Given the description of an element on the screen output the (x, y) to click on. 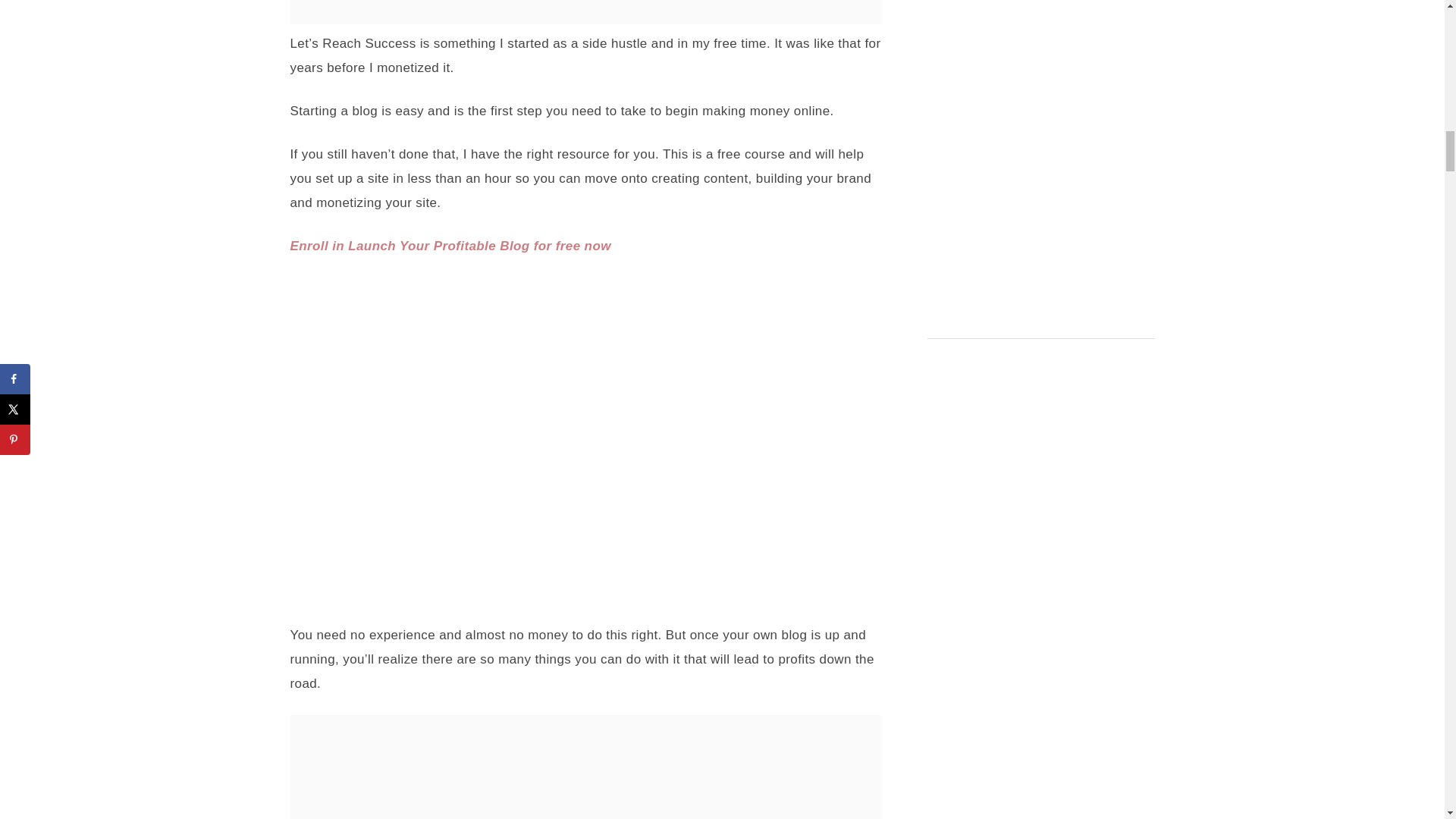
Enroll in Launch Your Profitable Blog for free now (449, 246)
